Given the description of an element on the screen output the (x, y) to click on. 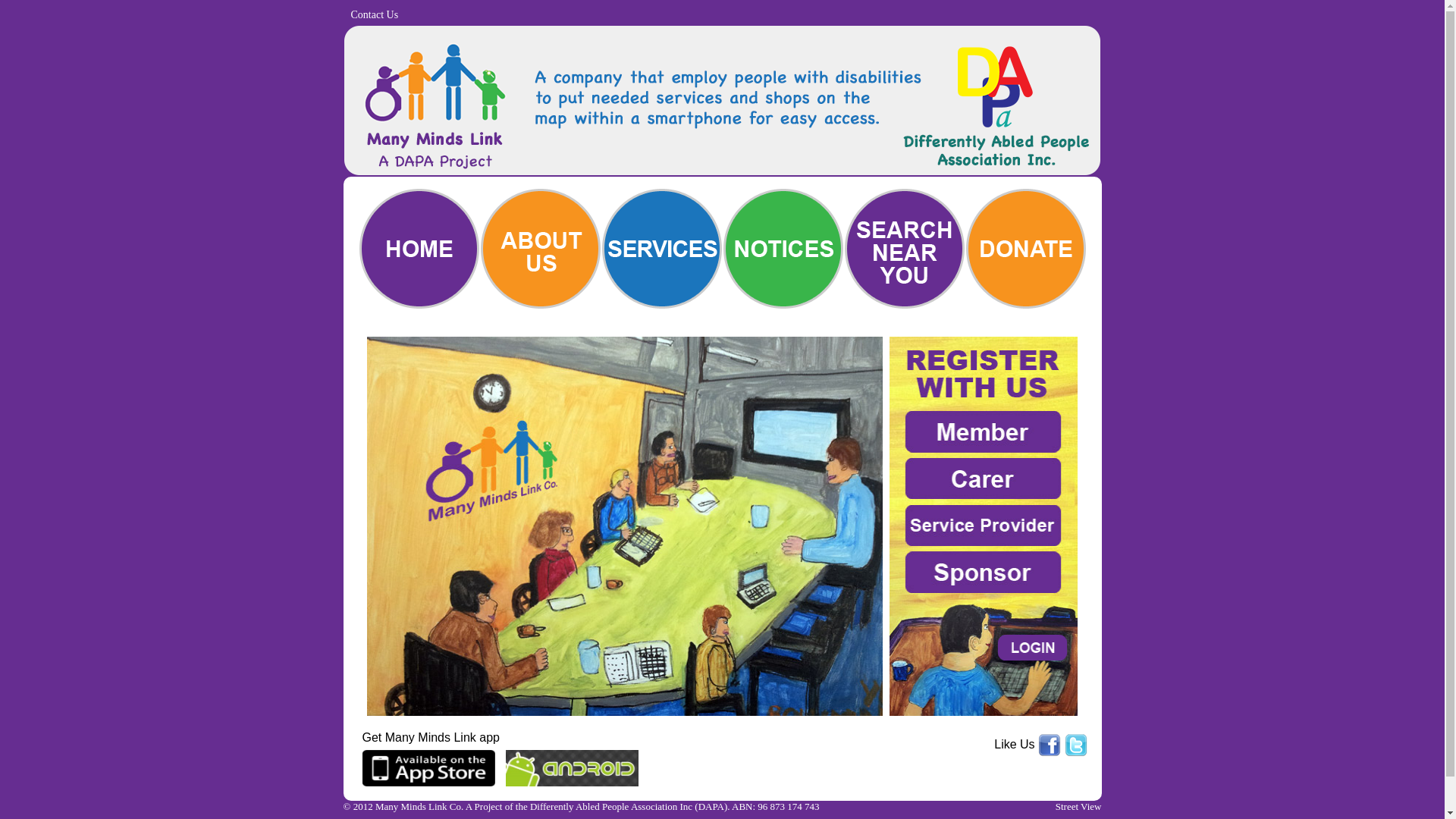
Contact Us Element type: text (374, 14)
Street View Element type: text (1078, 806)
